Given the description of an element on the screen output the (x, y) to click on. 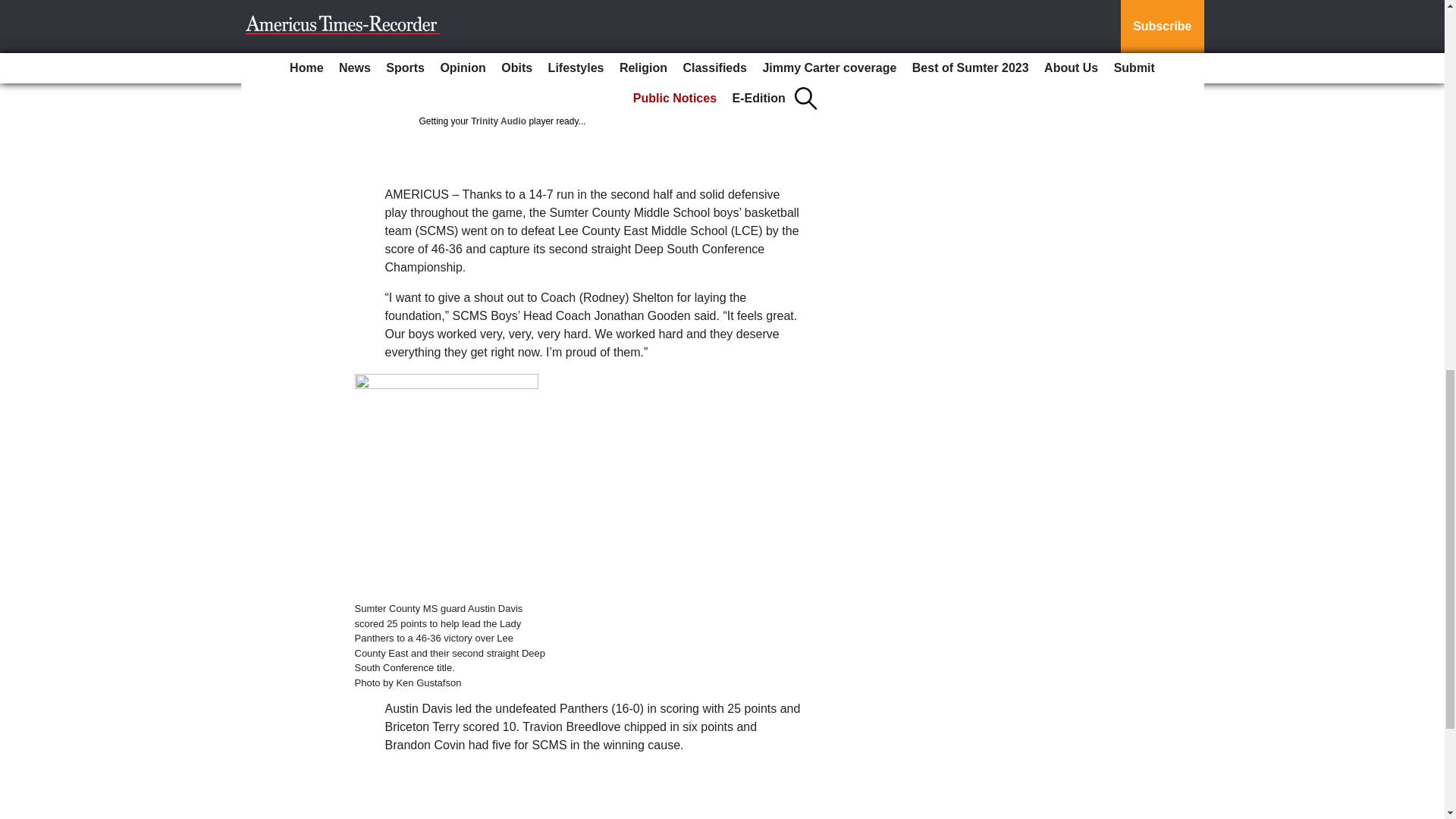
Trinity Audio (497, 121)
